Given the description of an element on the screen output the (x, y) to click on. 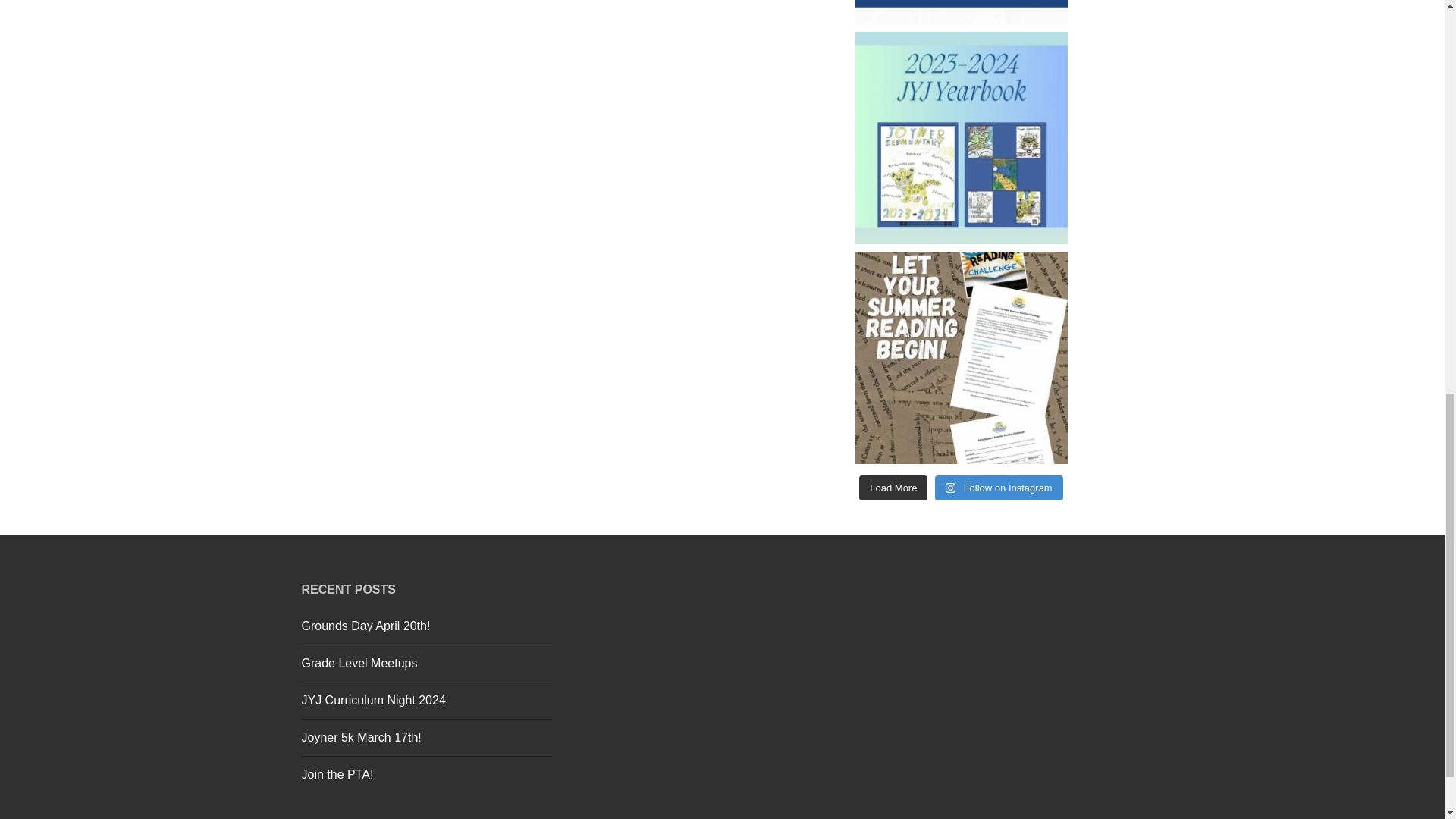
Grounds Day April 20th! (365, 625)
JYJ Curriculum Night 2024 (373, 699)
Follow on Instagram (998, 488)
Load More (893, 488)
Grade Level Meetups (359, 662)
